Given the description of an element on the screen output the (x, y) to click on. 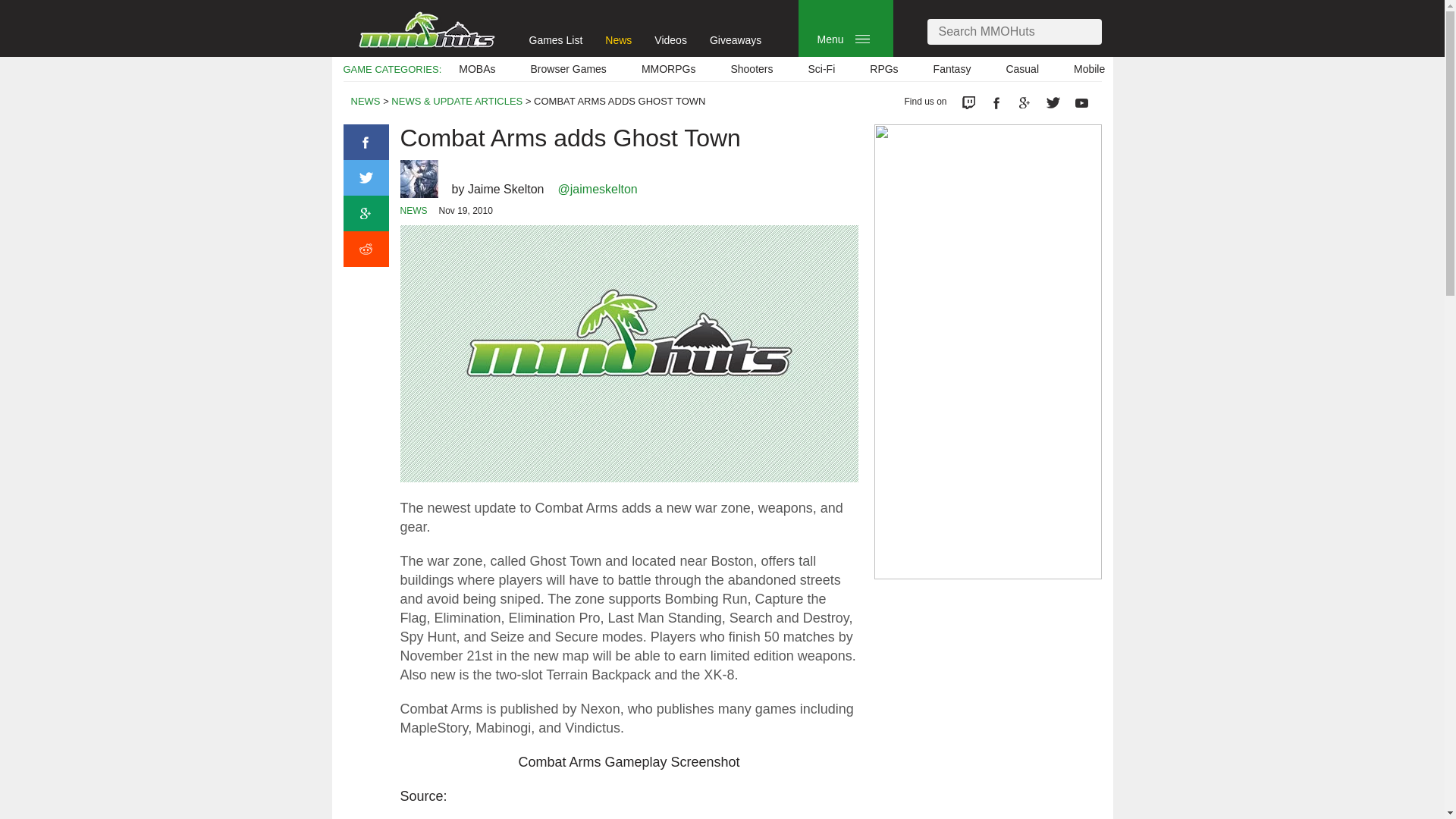
Browser Games (569, 69)
MMORPGs (668, 69)
Mobile (1089, 69)
Main Menu (862, 39)
Sci-Fi (821, 69)
Casual (1022, 69)
Go to All Videos (670, 39)
Go to All Games (556, 39)
MOBAs (476, 69)
Giveaways (735, 39)
